Given the description of an element on the screen output the (x, y) to click on. 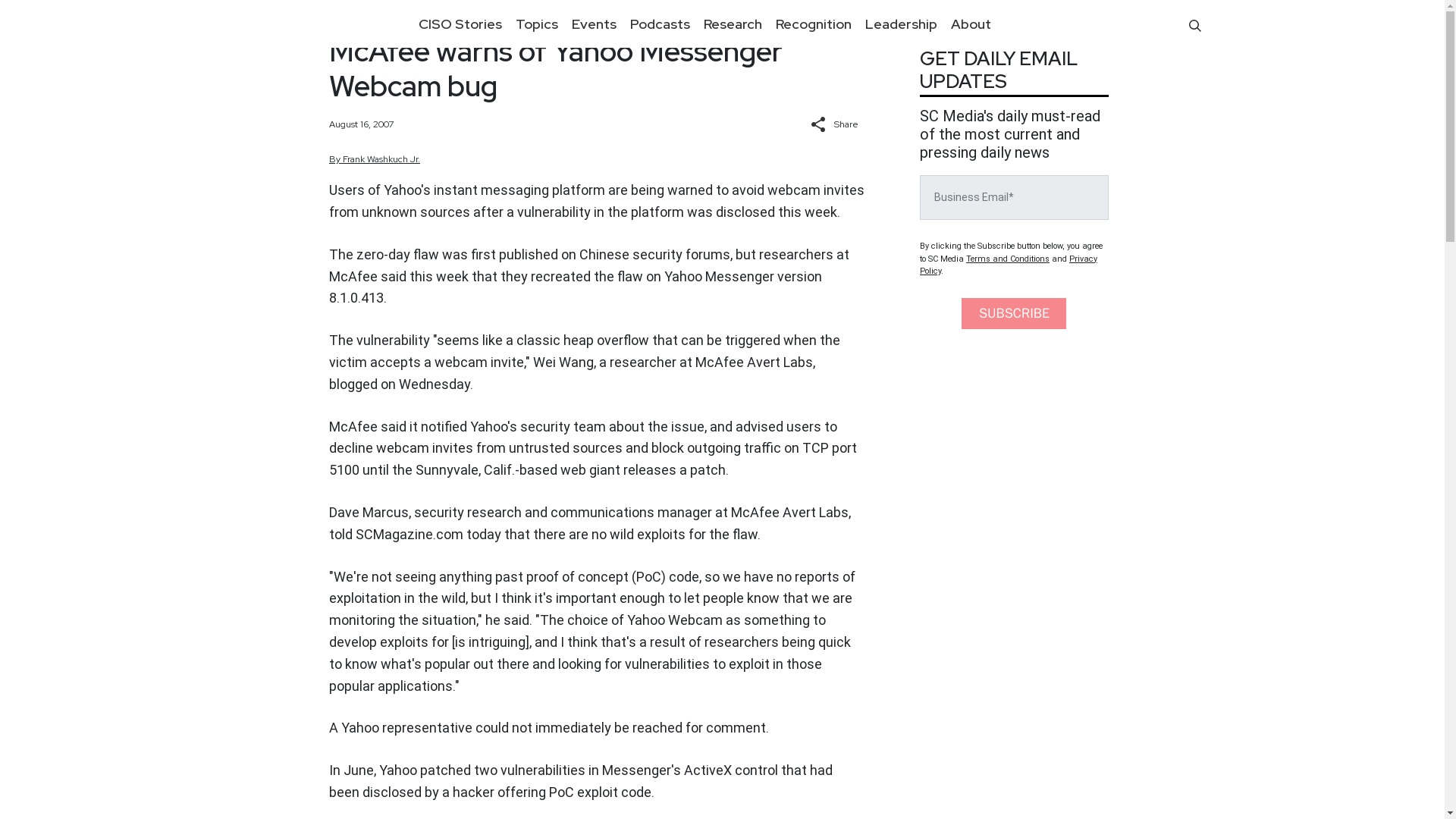
Leadership (901, 23)
Content (355, 23)
ActiveX (708, 770)
patched two vulnerabilities (502, 770)
Recognition (813, 23)
McAfee Avert Labs (753, 361)
Research (731, 23)
CISO Stories (459, 23)
Privacy Policy (1008, 264)
About (970, 23)
Events (593, 23)
zero-day (383, 254)
Topics (536, 23)
SUBSCRIBE (1012, 313)
Yahoo Messenger (718, 276)
